Given the description of an element on the screen output the (x, y) to click on. 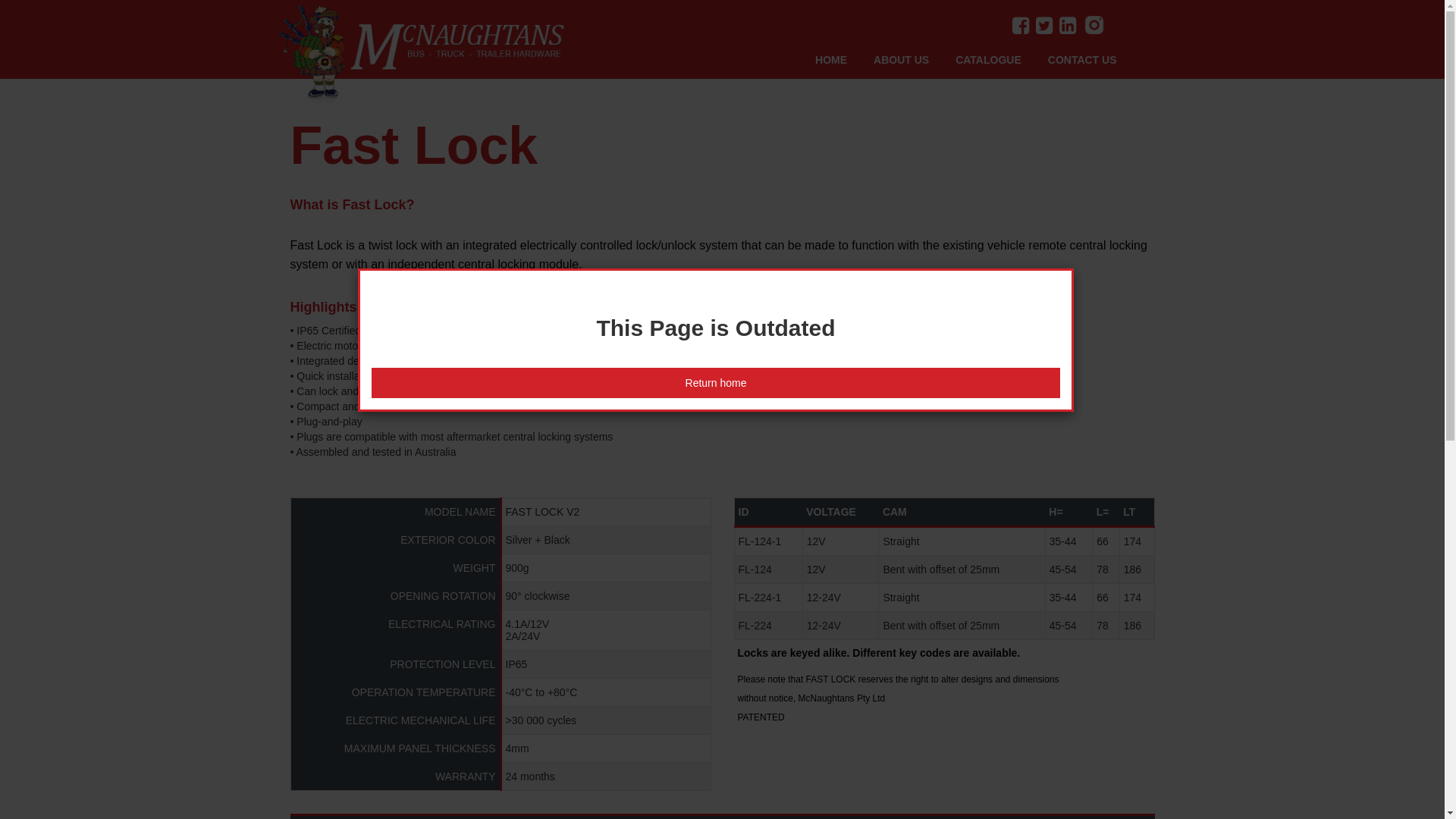
ABOUT US Element type: text (914, 59)
Return home Element type: text (715, 382)
CATALOGUE Element type: text (1001, 59)
CONTACT US Element type: text (1095, 59)
HOME Element type: text (844, 59)
